Given the description of an element on the screen output the (x, y) to click on. 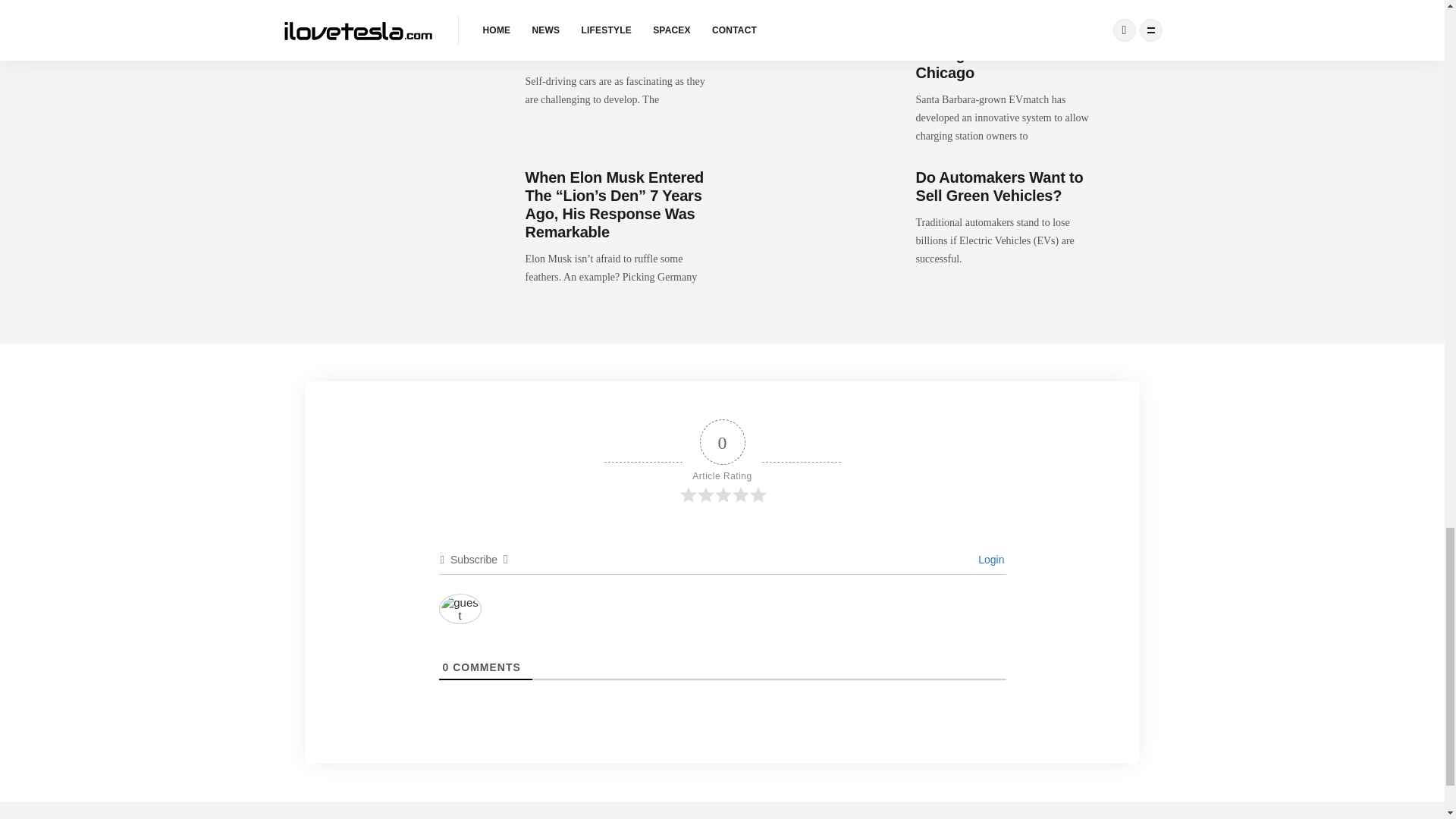
Do Automakers Want to Sell Green Vehicles? (999, 185)
Login (989, 559)
